Given the description of an element on the screen output the (x, y) to click on. 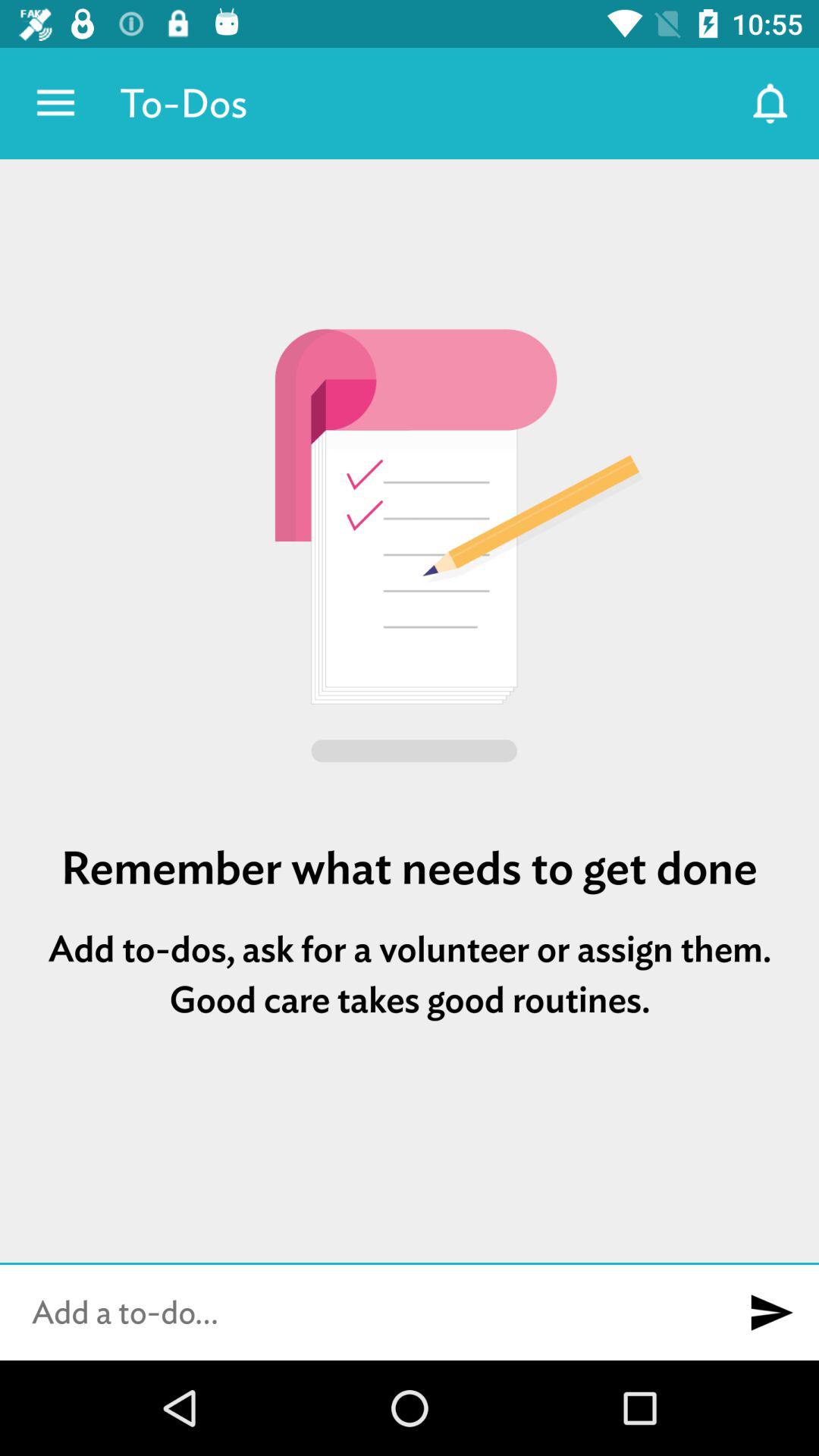
turn on the icon at the top right corner (771, 103)
